Given the description of an element on the screen output the (x, y) to click on. 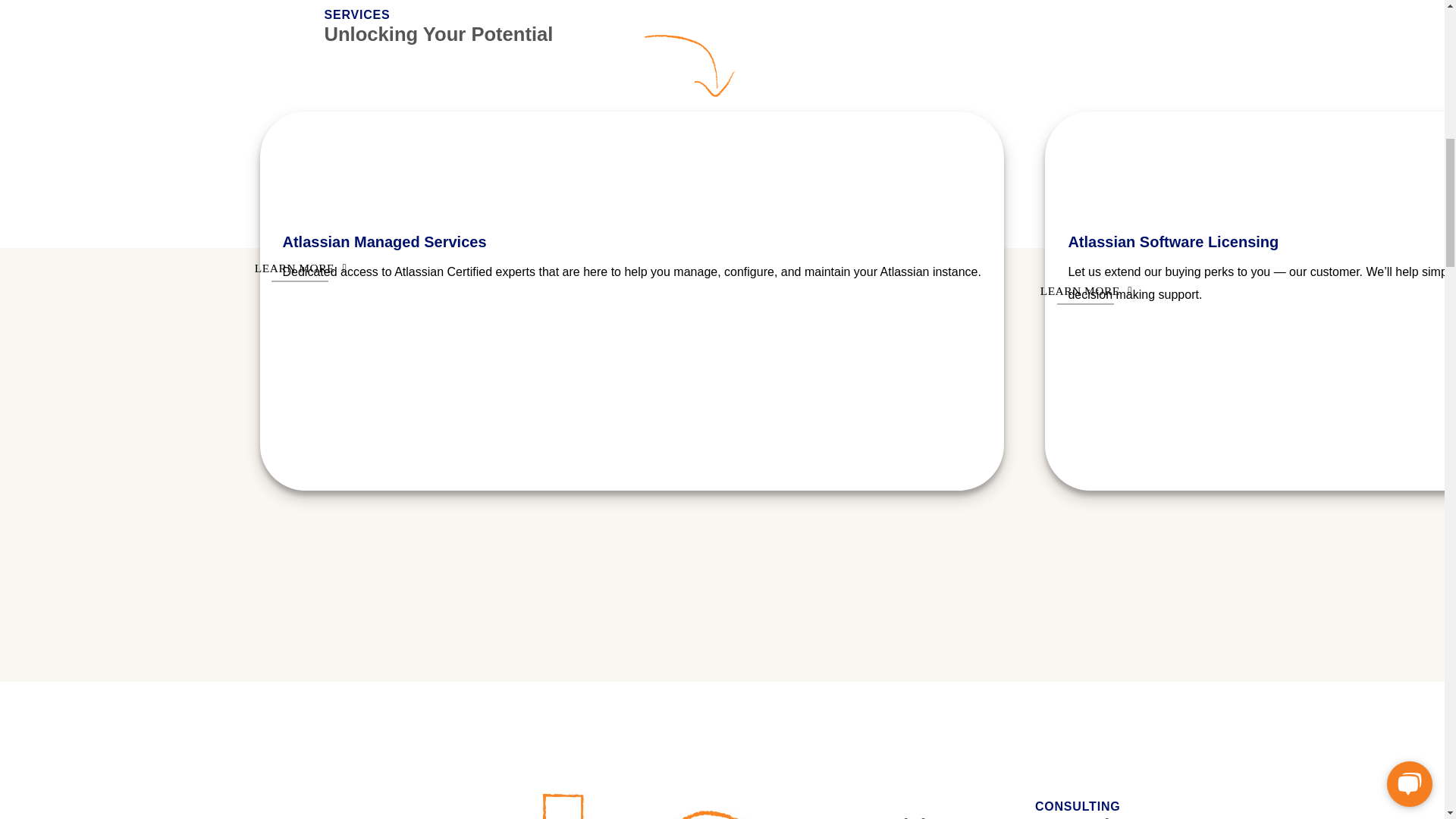
LEARN MORE (1084, 290)
LEARN MORE (299, 267)
